Given the description of an element on the screen output the (x, y) to click on. 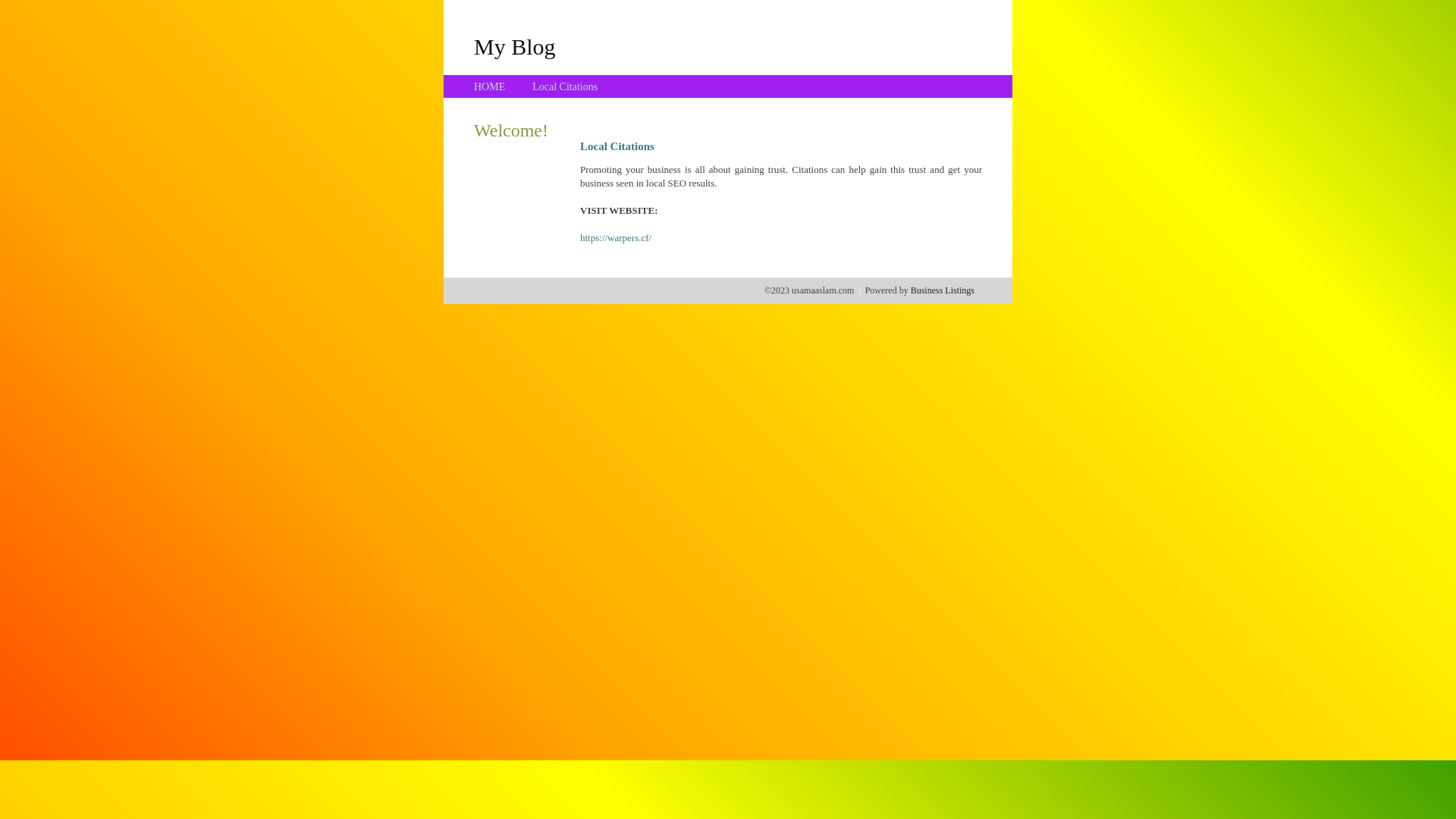
My Blog Element type: text (514, 46)
HOME Element type: text (489, 86)
https://warpers.cf/ Element type: text (615, 237)
Business Listings Element type: text (942, 290)
Local Citations Element type: text (564, 86)
